Given the description of an element on the screen output the (x, y) to click on. 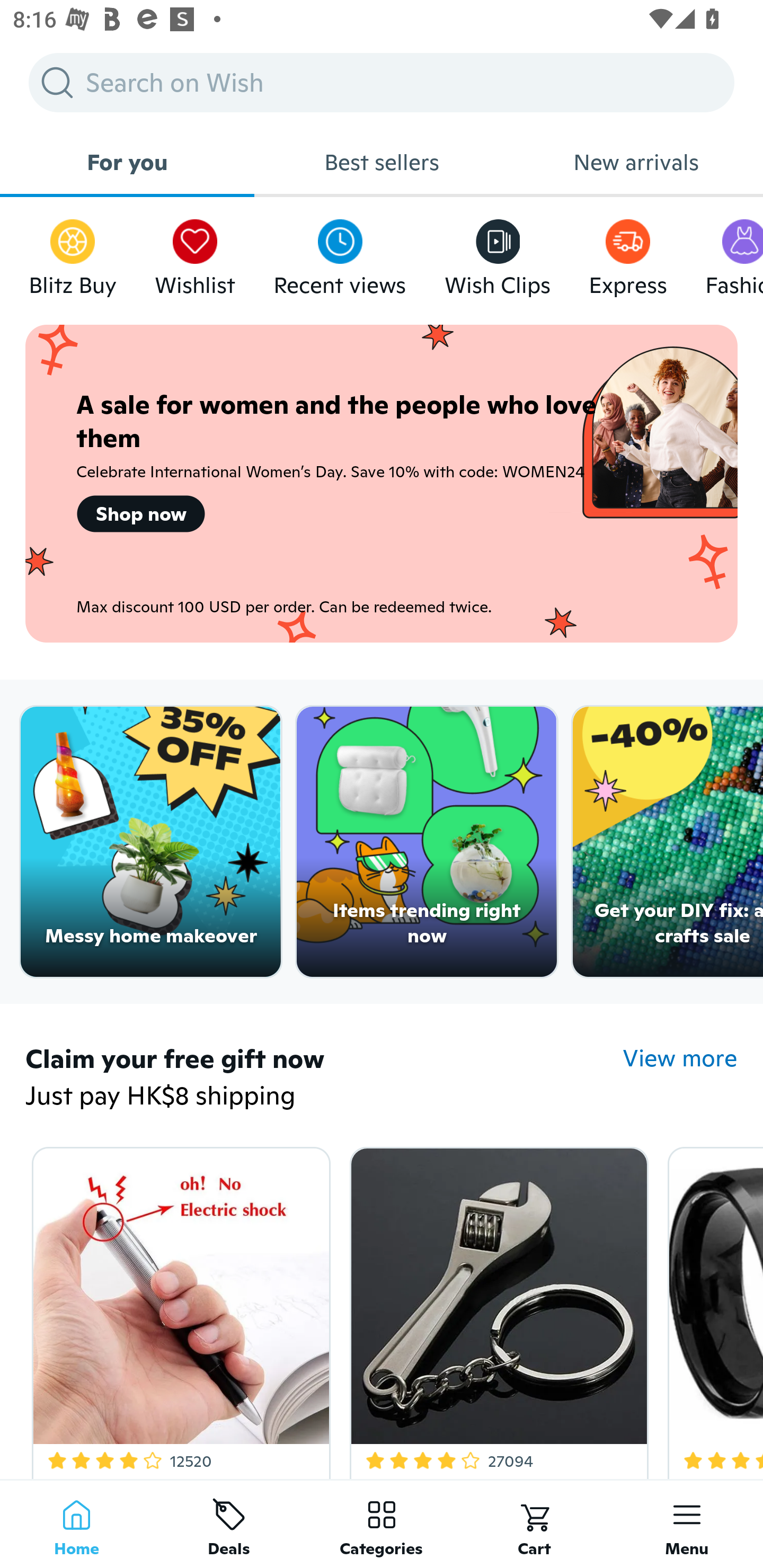
Search on Wish (381, 82)
For you (127, 161)
Best sellers (381, 161)
New arrivals (635, 161)
Blitz Buy (72, 252)
Wishlist (194, 252)
Recent views (339, 252)
Wish Clips (497, 252)
Express (627, 252)
Fashion (734, 252)
Messy home makeover (150, 841)
Items trending right now (426, 841)
Get your DIY fix: arts & crafts sale (668, 841)
Claim your free gift now
Just pay HK$8 shipping (323, 1078)
View more (679, 1058)
3.9 Star Rating 12520 Free (177, 1308)
4 Star Rating 27094 Free (495, 1308)
Home (76, 1523)
Deals (228, 1523)
Categories (381, 1523)
Cart (533, 1523)
Menu (686, 1523)
